Given the description of an element on the screen output the (x, y) to click on. 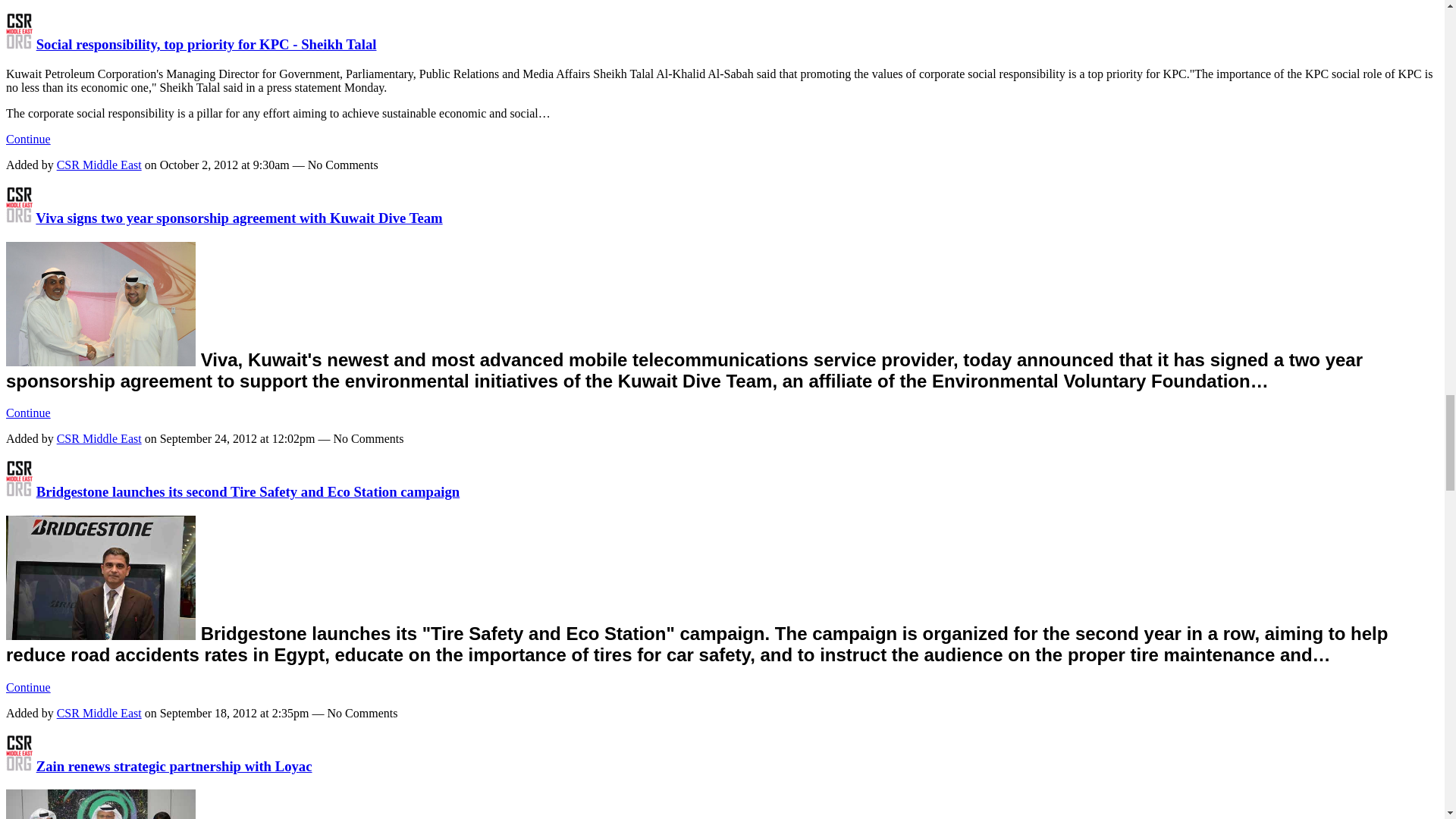
CSR Middle East (18, 491)
CSR Middle East (18, 217)
CSR Middle East (18, 44)
